Given the description of an element on the screen output the (x, y) to click on. 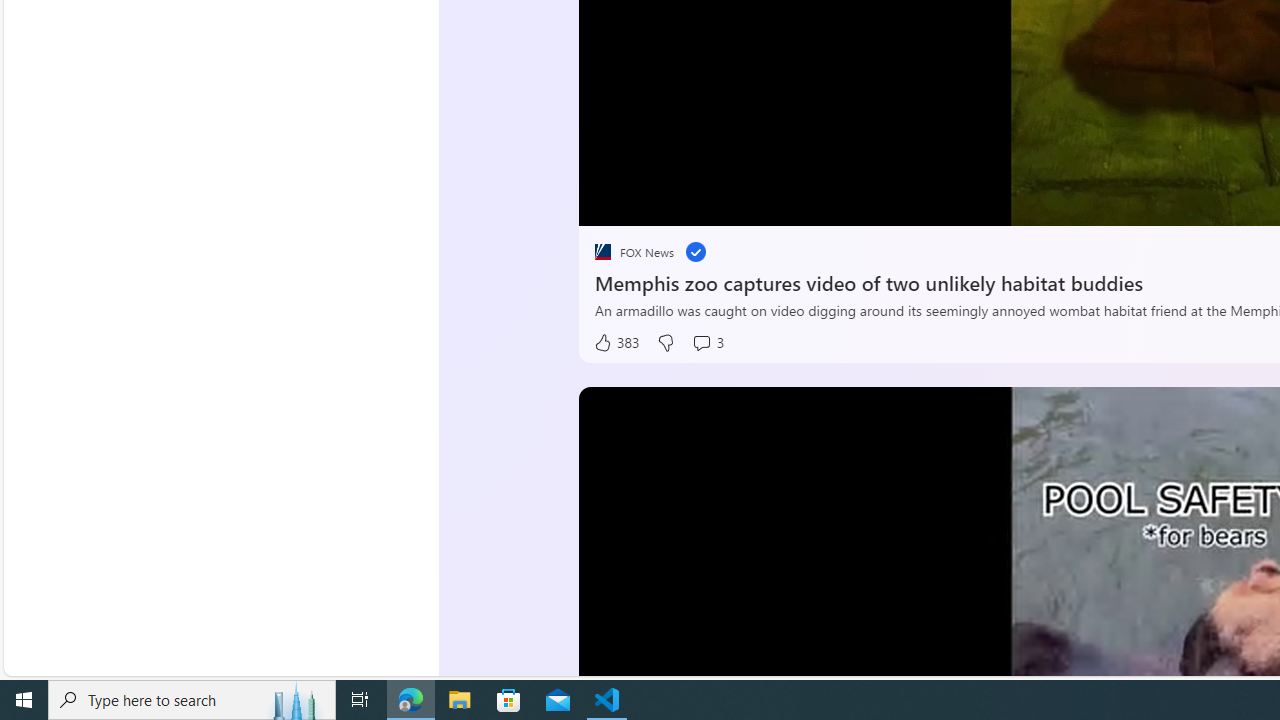
View comments 3 Comment (707, 343)
383 Like (615, 343)
Pause (607, 203)
placeholder (601, 252)
Seek Forward (688, 203)
Seek Back (648, 203)
placeholder FOX News (633, 252)
